Given the description of an element on the screen output the (x, y) to click on. 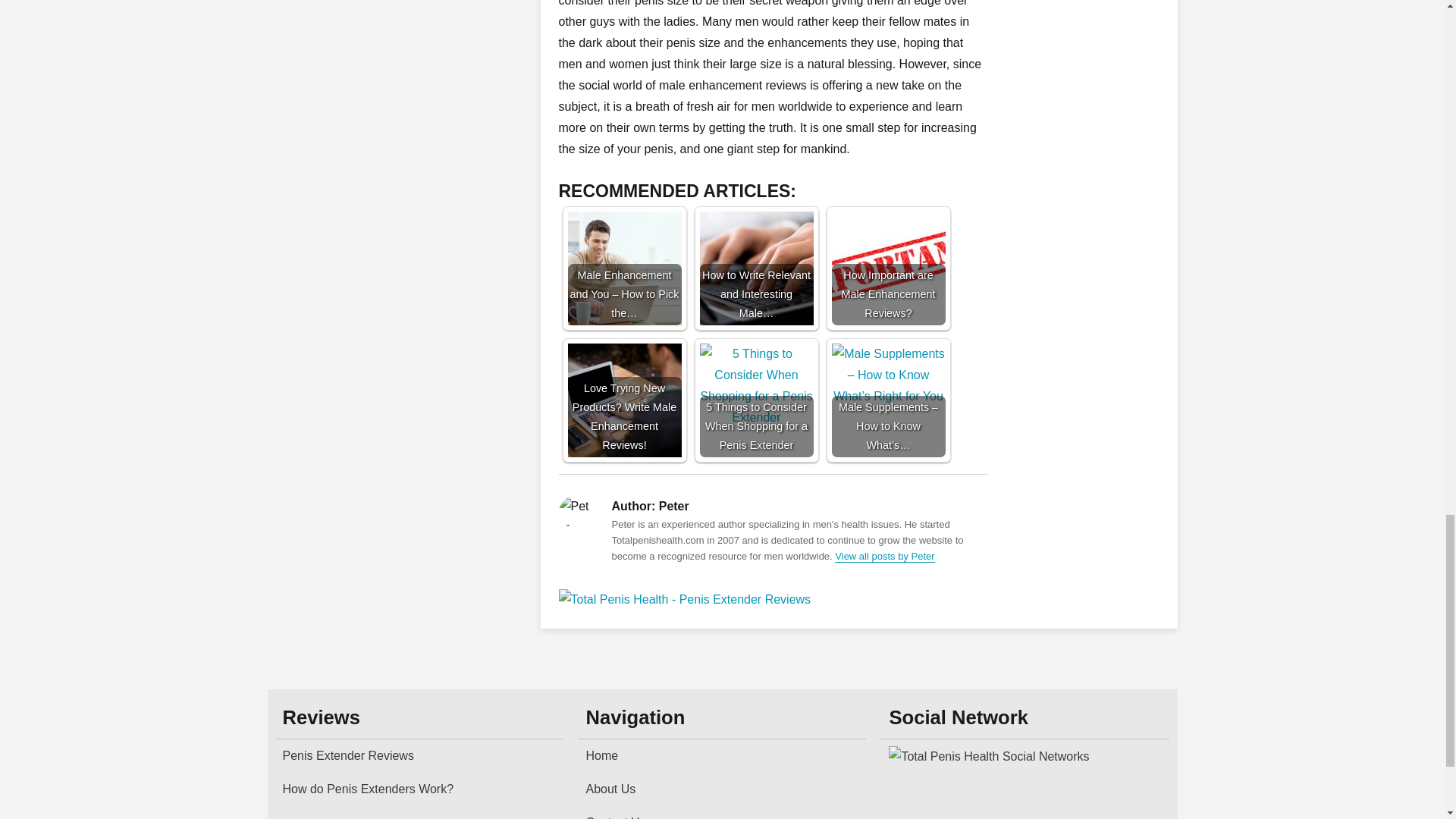
Total Penis Health - Penis Extender Reviews (772, 599)
Penis Extender Reviews (418, 756)
How Important are Male Enhancement Reviews? (887, 268)
5 Things to Consider When Shopping for a Penis Extender (755, 400)
5 Things to Consider When Shopping for a Penis Extender (755, 400)
Love Trying New Products? Write Male Enhancement Reviews! (624, 400)
Love Trying New Products? Write Male Enhancement Reviews! (624, 400)
How do Penis Extenders Work? (418, 789)
View all posts by Peter (884, 555)
How Important are Male Enhancement Reviews? (887, 268)
